Given the description of an element on the screen output the (x, y) to click on. 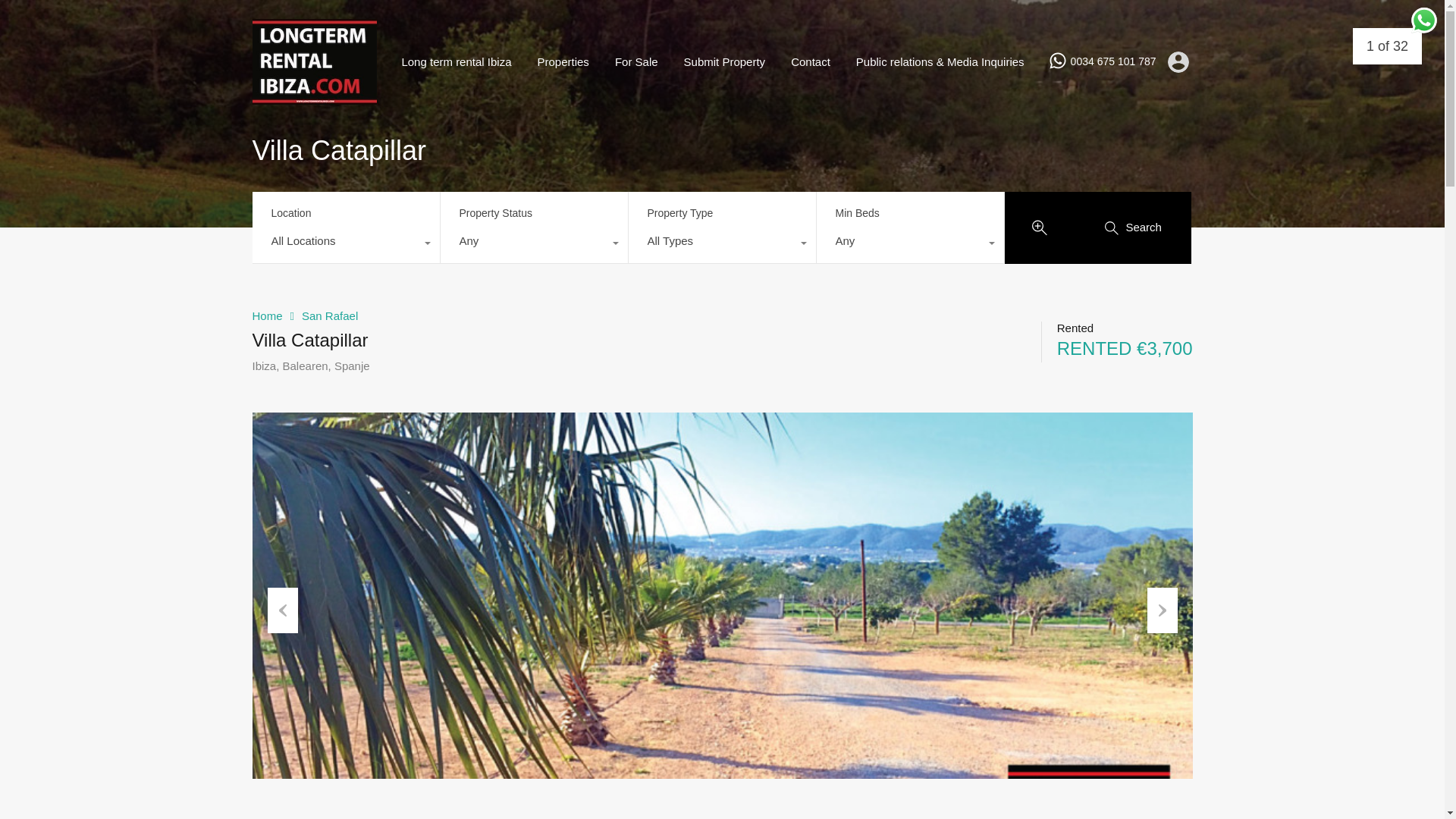
Contact (810, 62)
Home (266, 315)
All Locations (345, 244)
Any (909, 244)
Any (533, 244)
Longterm rental Ibiza (314, 97)
All Types (721, 244)
Any (533, 244)
All Types (721, 244)
For Sale (636, 62)
